Given the description of an element on the screen output the (x, y) to click on. 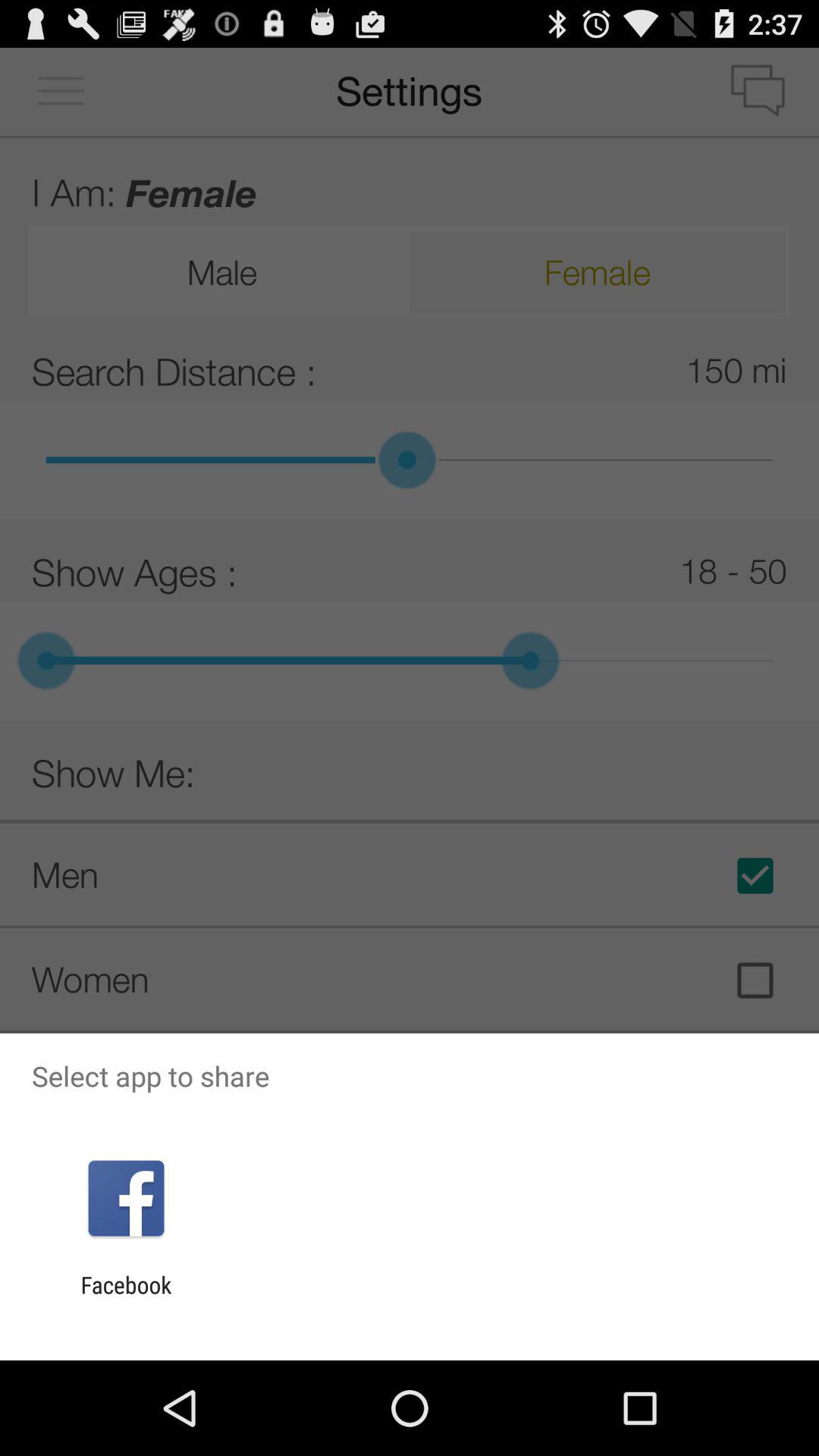
turn on icon above facebook item (126, 1198)
